Given the description of an element on the screen output the (x, y) to click on. 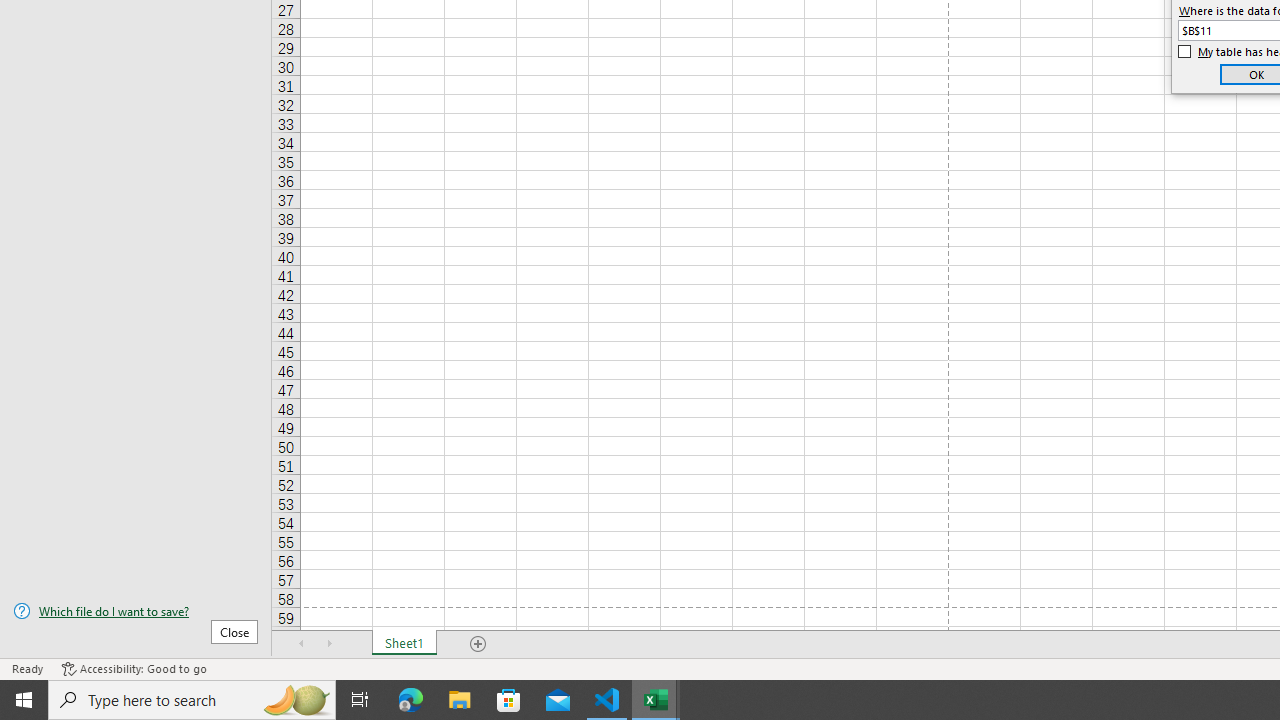
Accessibility Checker Accessibility: Good to go (134, 668)
Scroll Right (330, 644)
Scroll Left (302, 644)
Sheet1 (404, 644)
Which file do I want to save? (136, 611)
Close (234, 631)
Add Sheet (478, 644)
